Given the description of an element on the screen output the (x, y) to click on. 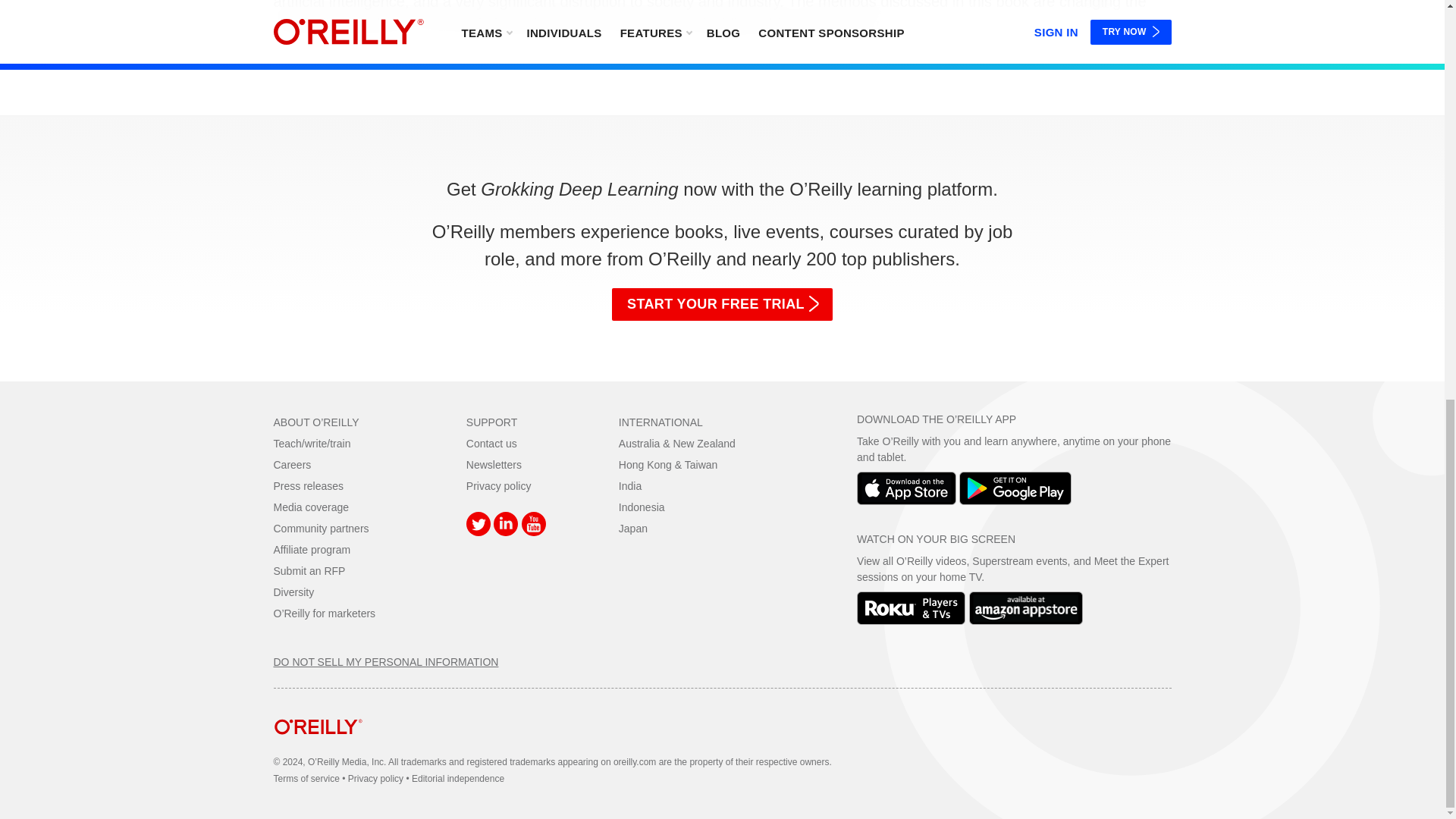
Contact us (490, 443)
Submit an RFP (309, 571)
Affiliate program (311, 549)
START YOUR FREE TRIAL (721, 304)
Press releases (308, 485)
Diversity (293, 592)
home page (317, 745)
Privacy policy (498, 485)
Careers (292, 464)
Media coverage (311, 507)
Community partners (320, 528)
Newsletters (493, 464)
SUPPORT (490, 422)
